Given the description of an element on the screen output the (x, y) to click on. 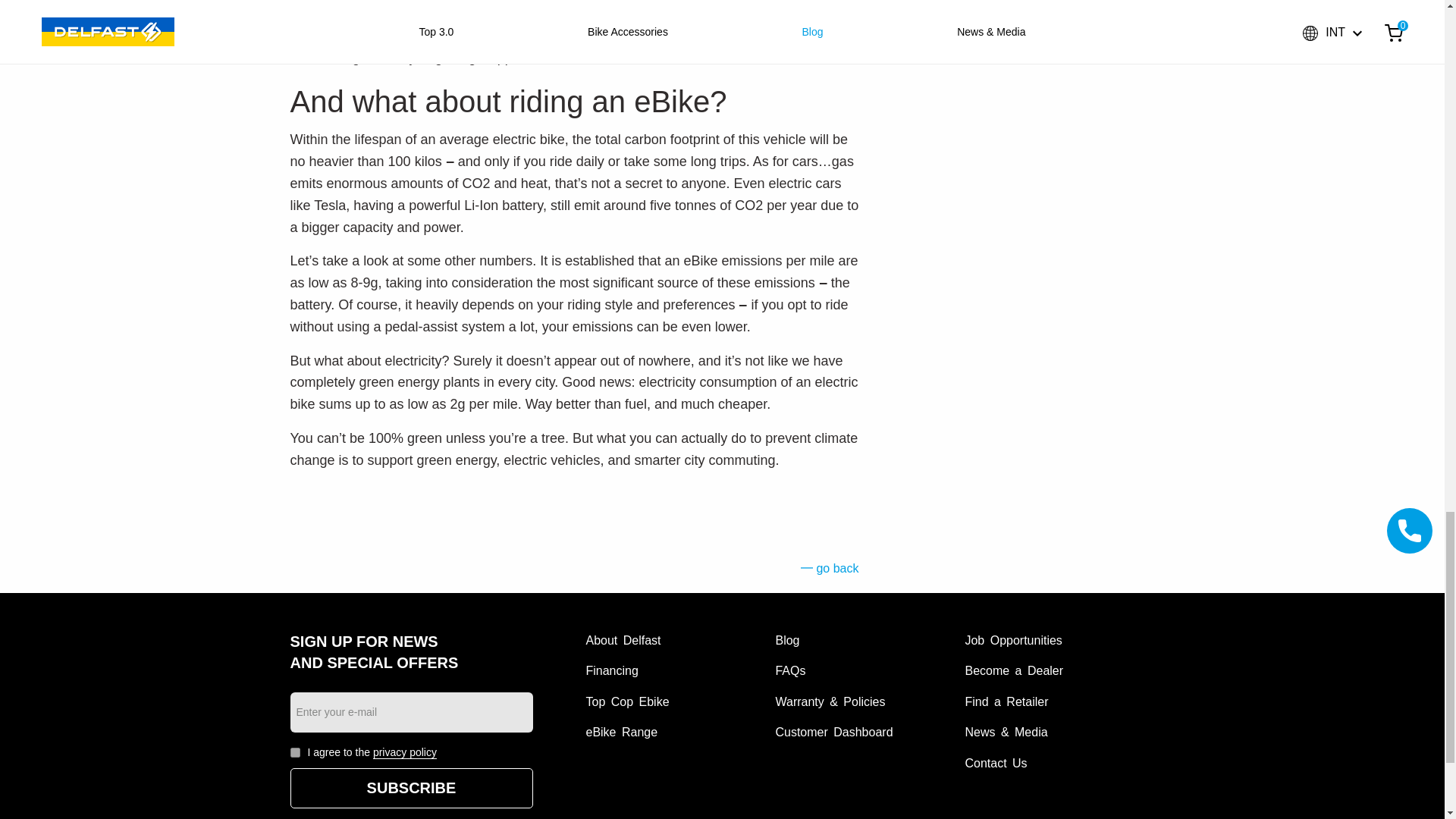
Blog (786, 640)
FAQs (789, 670)
Find a Retailer (1005, 701)
Contact Us (994, 762)
Financing (611, 670)
Subscribe (410, 788)
About Delfast (623, 640)
privacy policy (404, 752)
Subscribe (410, 788)
Job Opportunities (1012, 640)
